Given the description of an element on the screen output the (x, y) to click on. 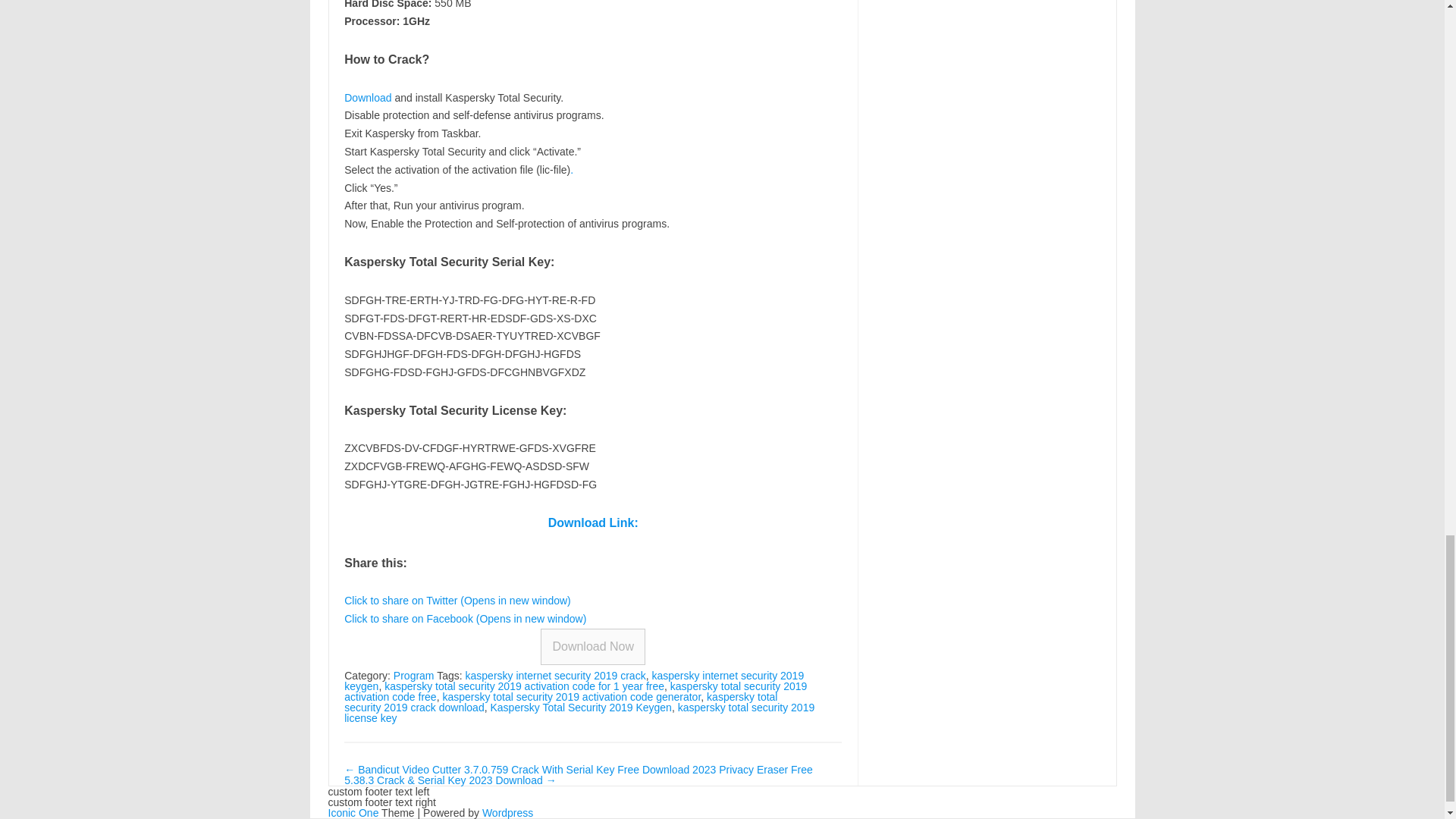
Click to share on Twitter (456, 600)
Kaspersky Total Security 2019 Keygen (580, 707)
Click to share on Facebook (464, 618)
kaspersky total security 2019 crack download (560, 702)
Download Link: (593, 522)
kaspersky total security 2019 activation code generator (571, 696)
. (571, 169)
kaspersky internet security 2019 crack (555, 675)
kaspersky total security 2019 license key (578, 712)
Program (413, 675)
Download Now (592, 646)
Download Now (592, 646)
kaspersky internet security 2019 keygen (573, 680)
Download (367, 97)
kaspersky total security 2019 activation code free (574, 691)
